Given the description of an element on the screen output the (x, y) to click on. 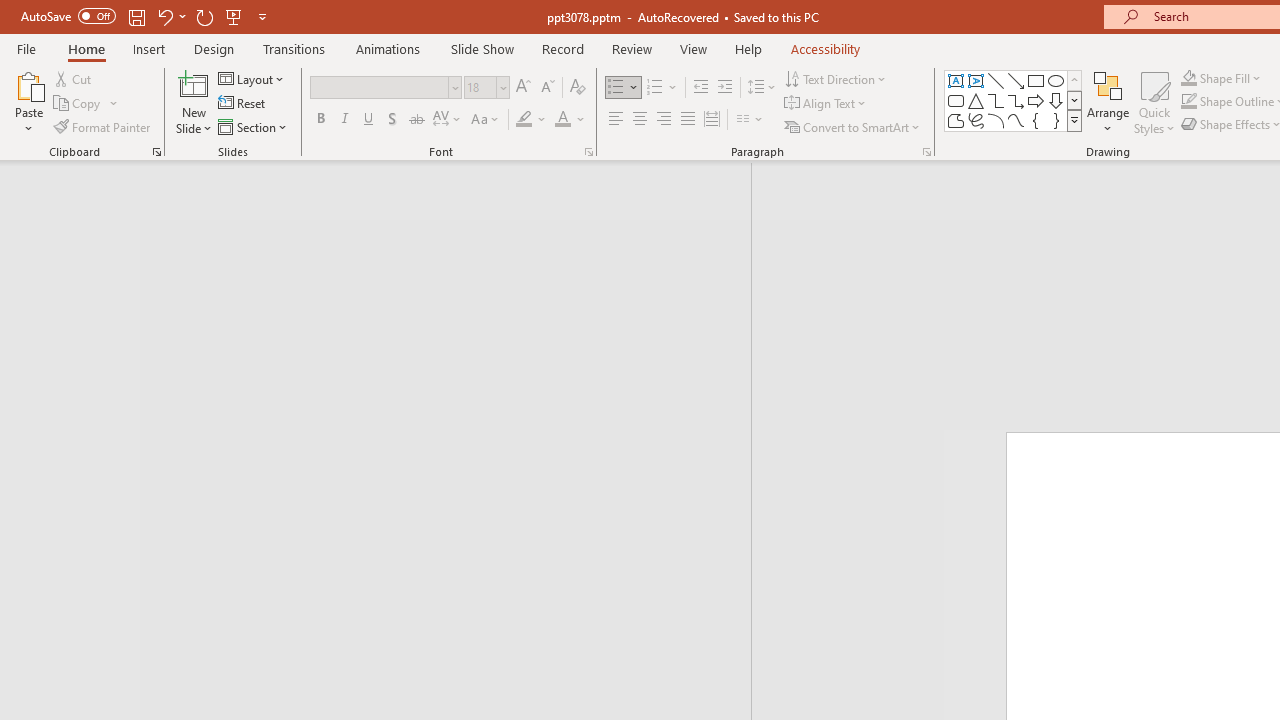
Decrease Indent (700, 87)
Text Direction (836, 78)
Bullets (616, 87)
Line Arrow (1016, 80)
Justify (687, 119)
Columns (750, 119)
Font Color Red (562, 119)
Align Text (826, 103)
Design (214, 48)
Line Spacing (762, 87)
Row Down (1074, 100)
Cut (73, 78)
Right Brace (1055, 120)
Vertical Text Box (975, 80)
